Given the description of an element on the screen output the (x, y) to click on. 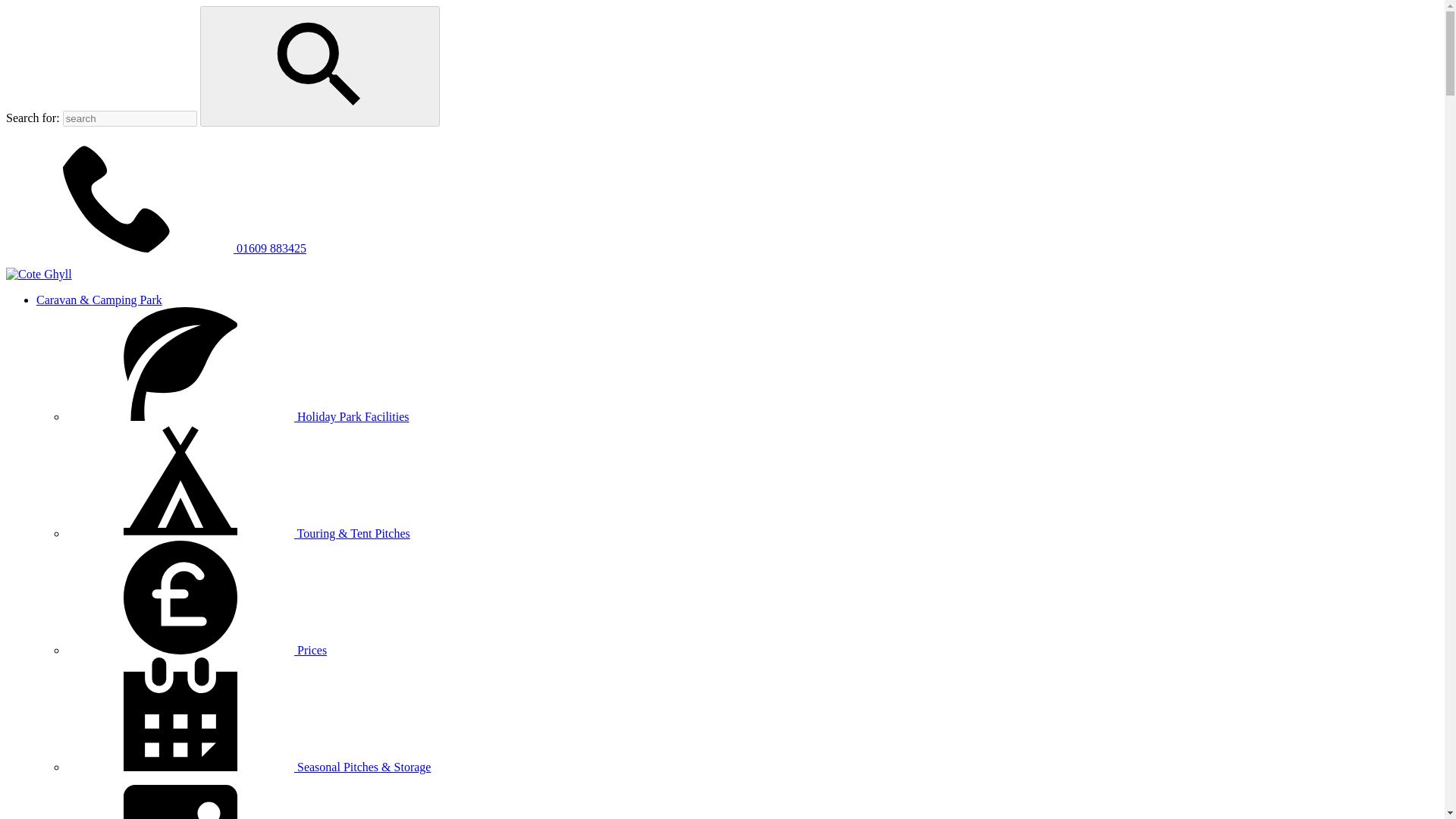
Prices (196, 649)
Holiday Park Facilities (237, 416)
01609 883425 (155, 247)
